Given the description of an element on the screen output the (x, y) to click on. 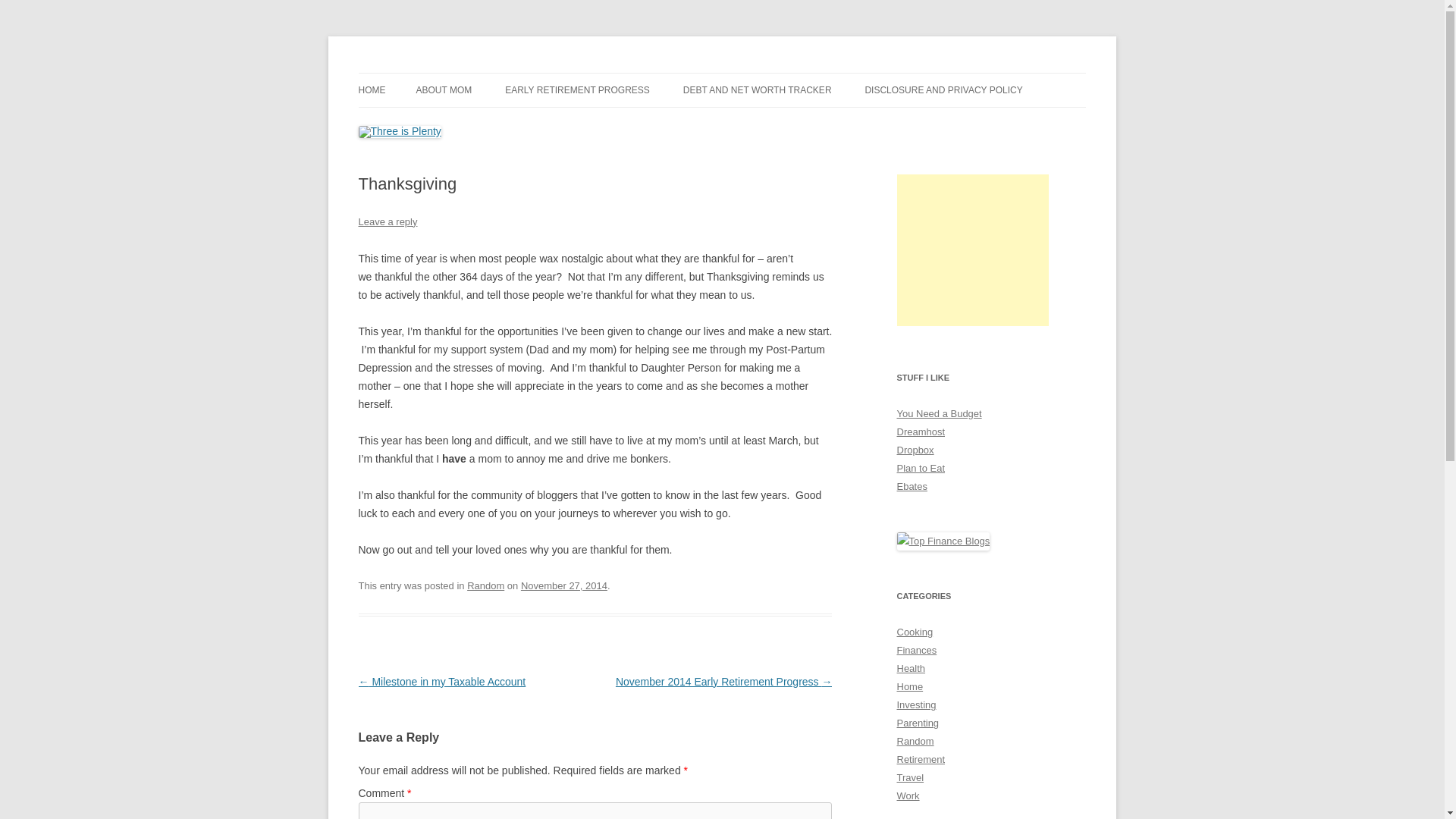
Cooking (914, 632)
Leave a reply (387, 221)
DISCLOSURE AND PRIVACY POLICY (943, 90)
ABOUT MOM (442, 90)
Plan to Eat (920, 468)
Home (909, 686)
Parenting (917, 722)
Random (914, 740)
